Given the description of an element on the screen output the (x, y) to click on. 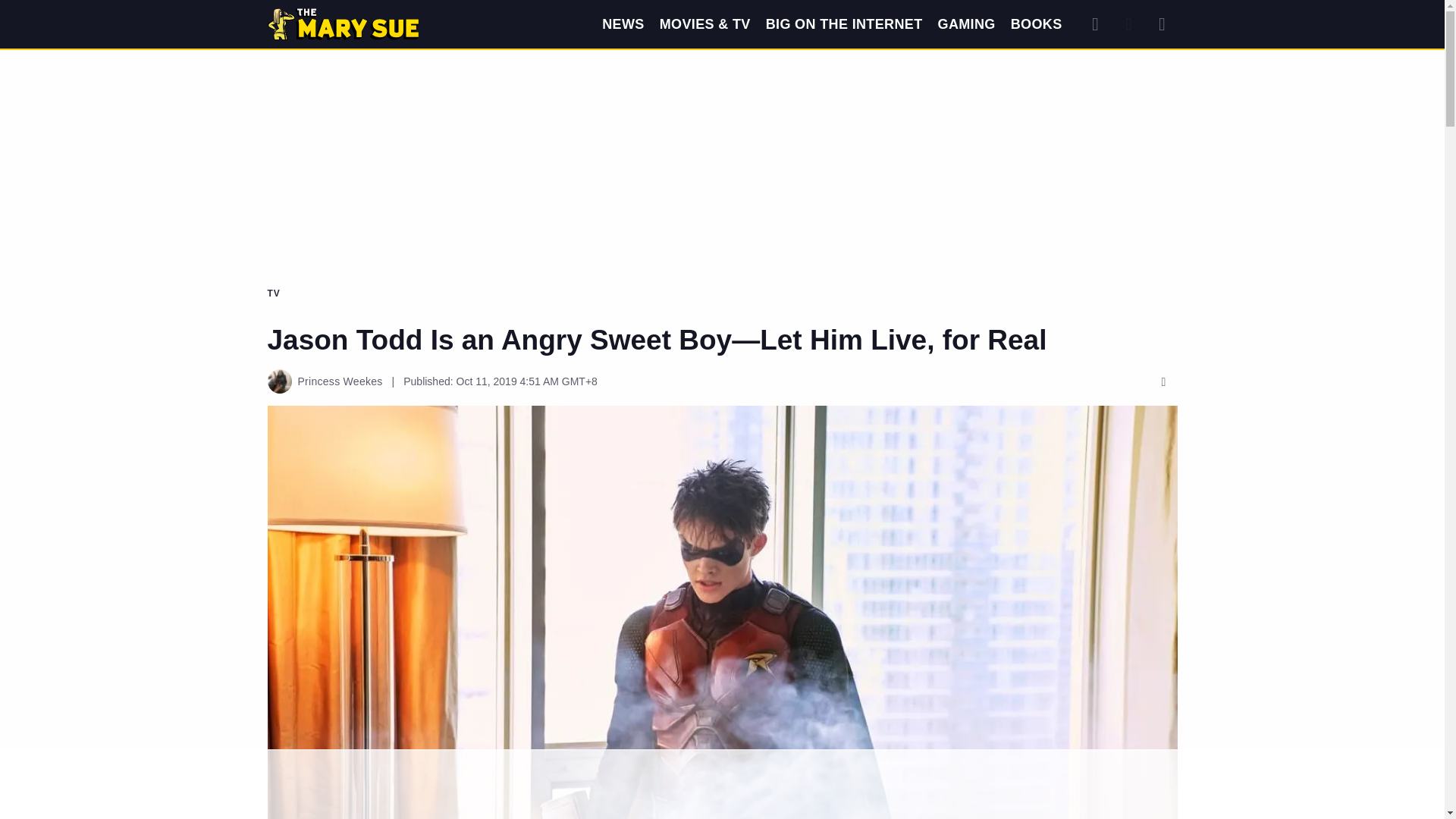
GAMING (966, 23)
Search (1094, 24)
NEWS (622, 23)
BOOKS (1036, 23)
Expand Menu (1161, 24)
3rd party ad content (721, 785)
BIG ON THE INTERNET (844, 23)
Dark Mode (1127, 24)
3rd party ad content (721, 108)
